Given the description of an element on the screen output the (x, y) to click on. 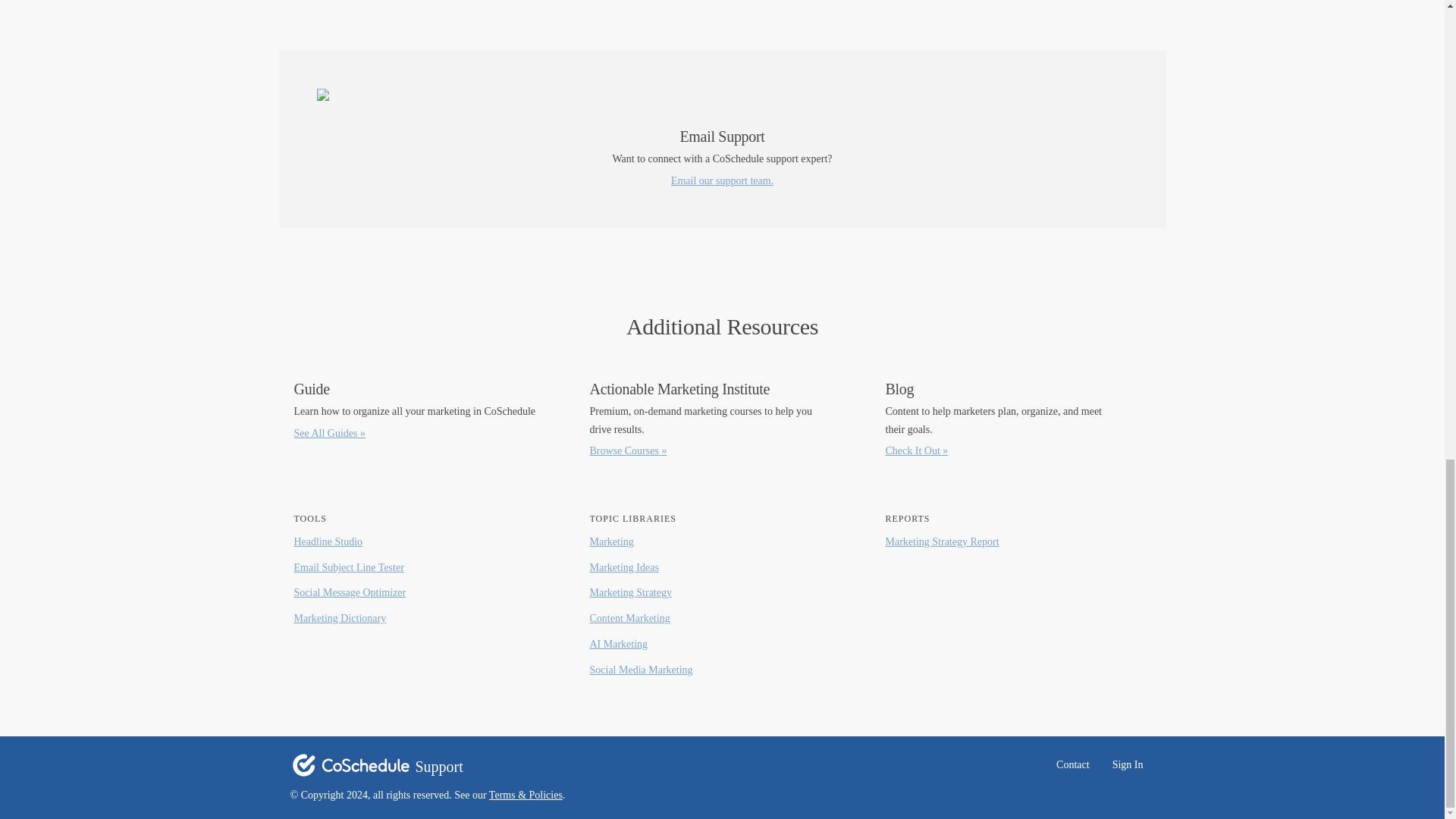
Try the Email Subject Line Tester (349, 567)
Try Headline Studio (328, 542)
Content Marketing (629, 618)
Go to the Content Marketing Hub (629, 618)
AI Marketing (618, 644)
Sign In (1127, 764)
Go to the Marketing Strategy Hub (630, 592)
Go to the Marketing Hub (611, 542)
Email Subject Line Tester (349, 567)
Marketing Ideas (624, 567)
Marketing Strategy (630, 592)
Marketing (611, 542)
Use the Marketing Dictionary (340, 618)
Go to the Marketing Ideas Hub (624, 567)
